Given the description of an element on the screen output the (x, y) to click on. 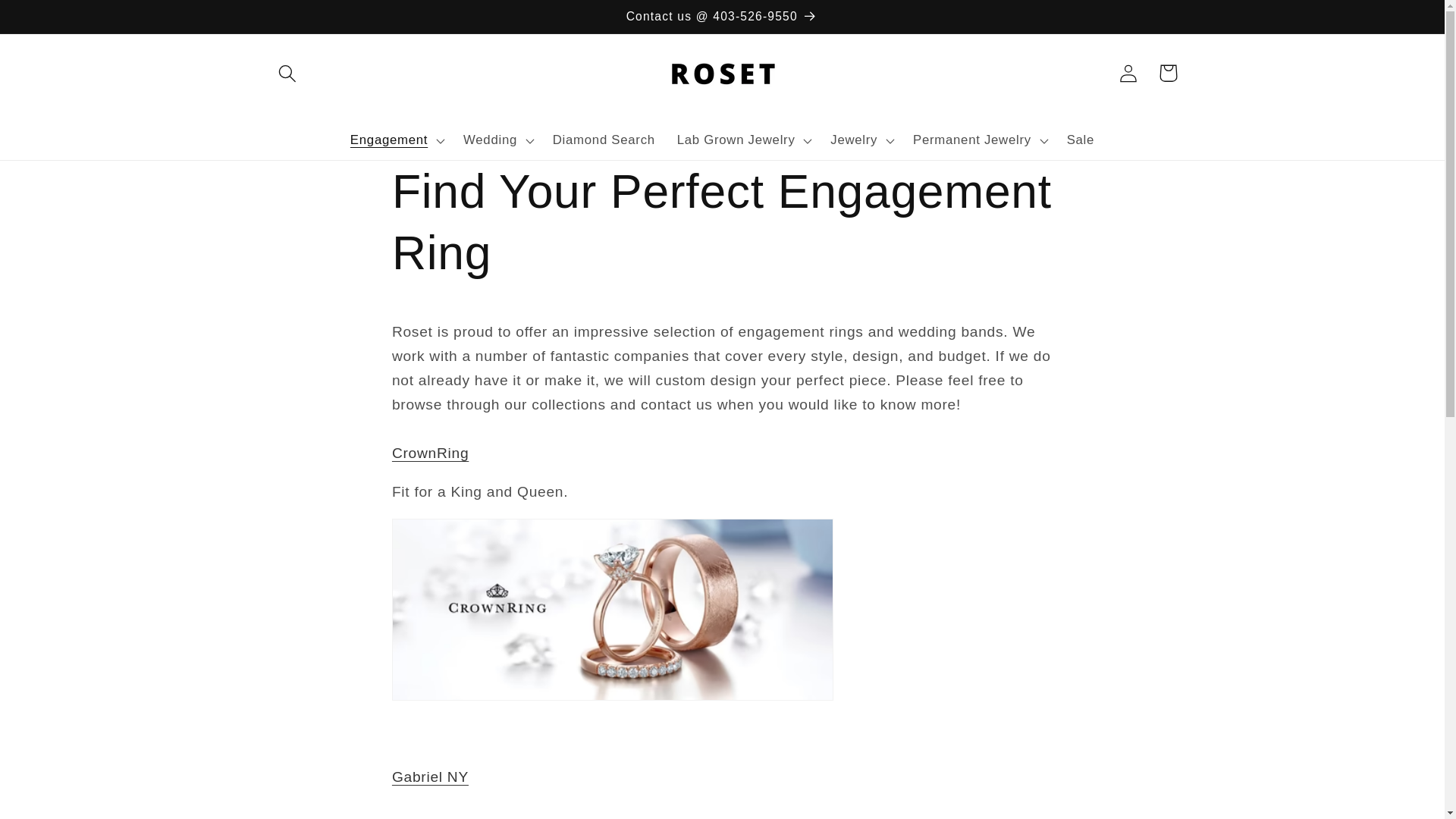
Skip to content (55, 20)
